Given the description of an element on the screen output the (x, y) to click on. 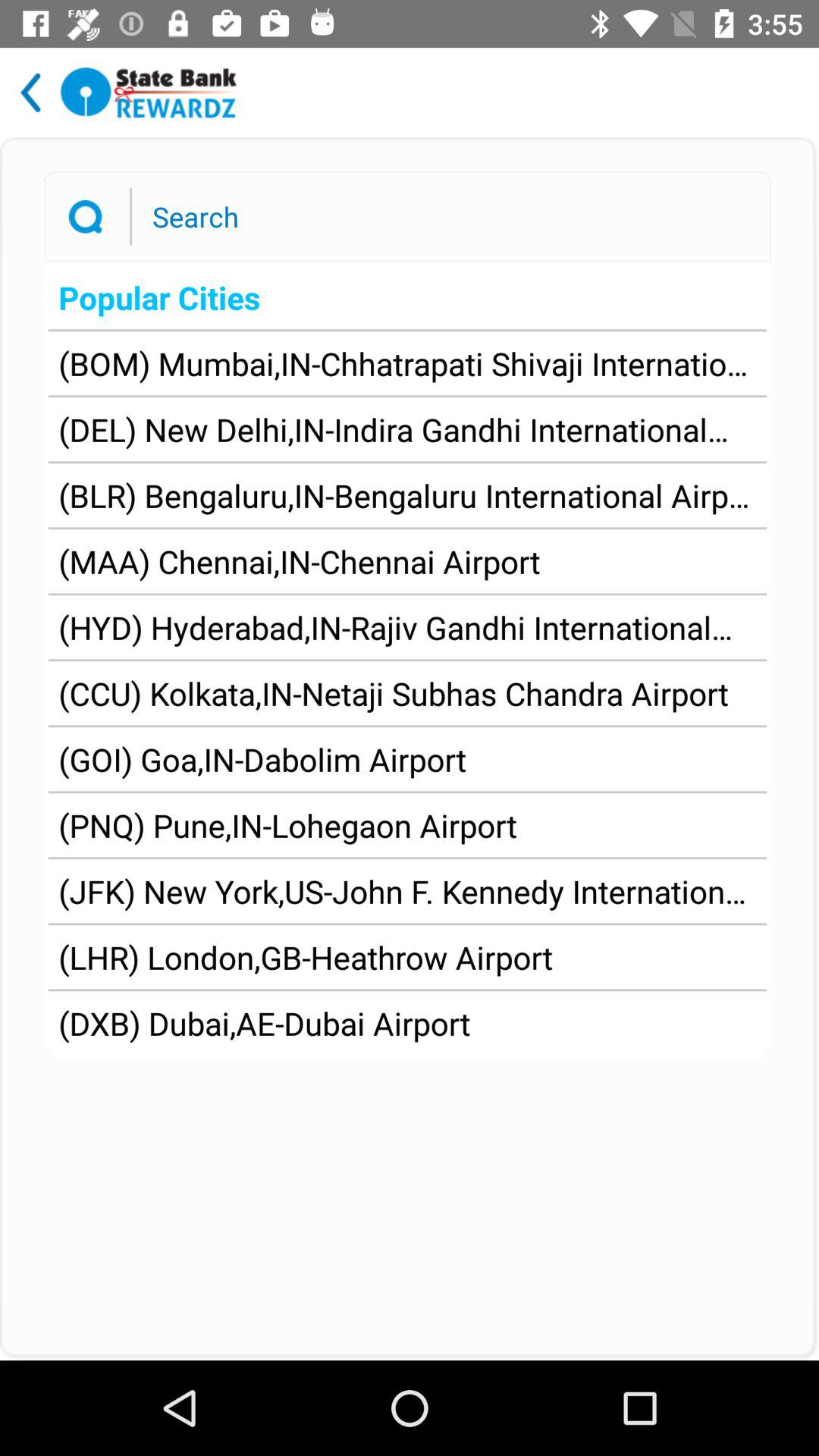
go home (148, 92)
